Given the description of an element on the screen output the (x, y) to click on. 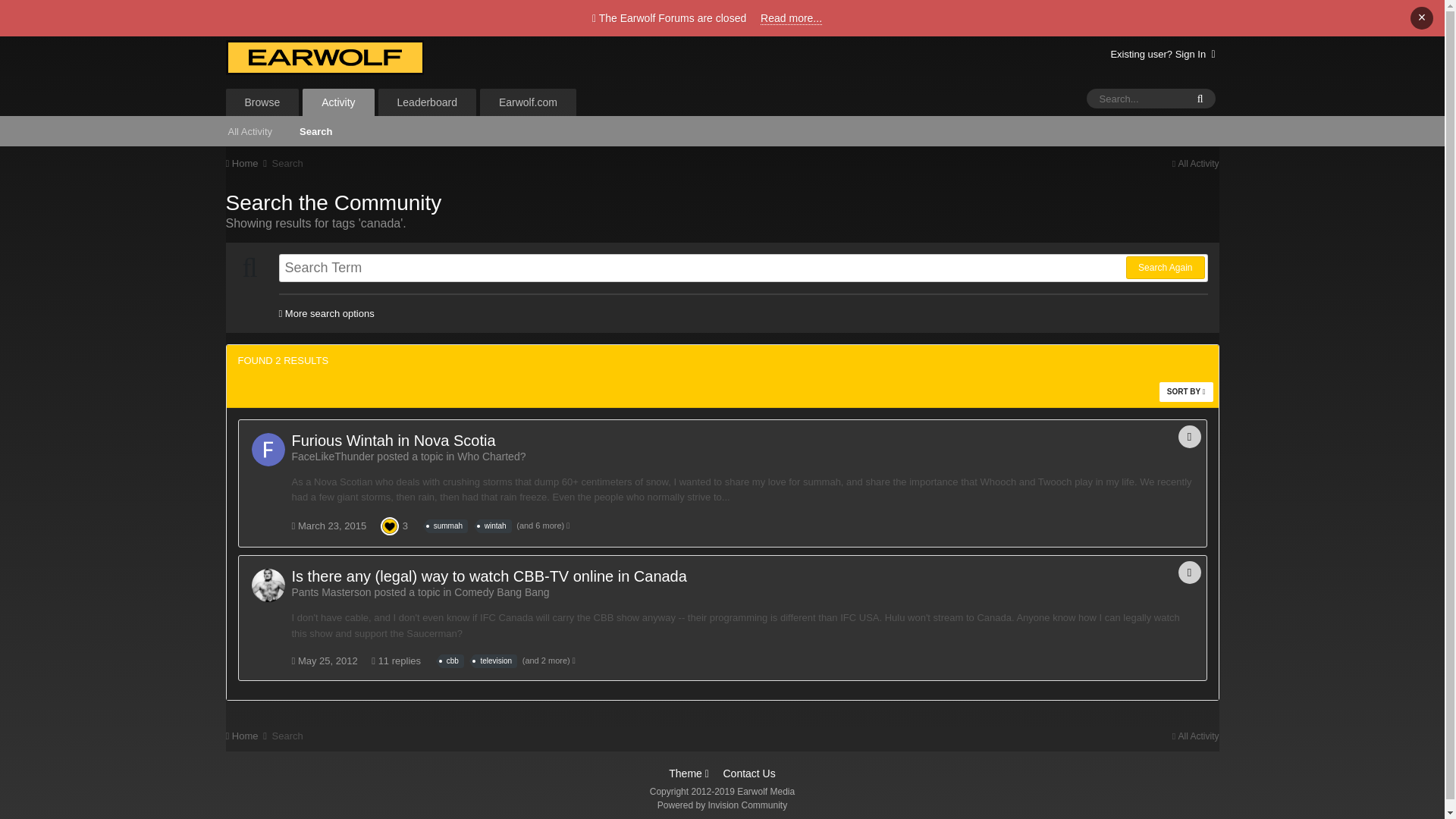
More search options (326, 313)
Like (389, 525)
Home (247, 163)
All Activity (249, 130)
Find other content tagged with 'summah' (447, 526)
Home (247, 163)
Search (287, 163)
Read more... (791, 18)
Find other content tagged with 'wintah' (495, 526)
Go to FaceLikeThunder's profile (268, 449)
Leaderboard (427, 102)
Earwolf.com (528, 102)
Go to Pants Masterson's profile (268, 584)
Search (315, 130)
Search Again (1164, 267)
